Given the description of an element on the screen output the (x, y) to click on. 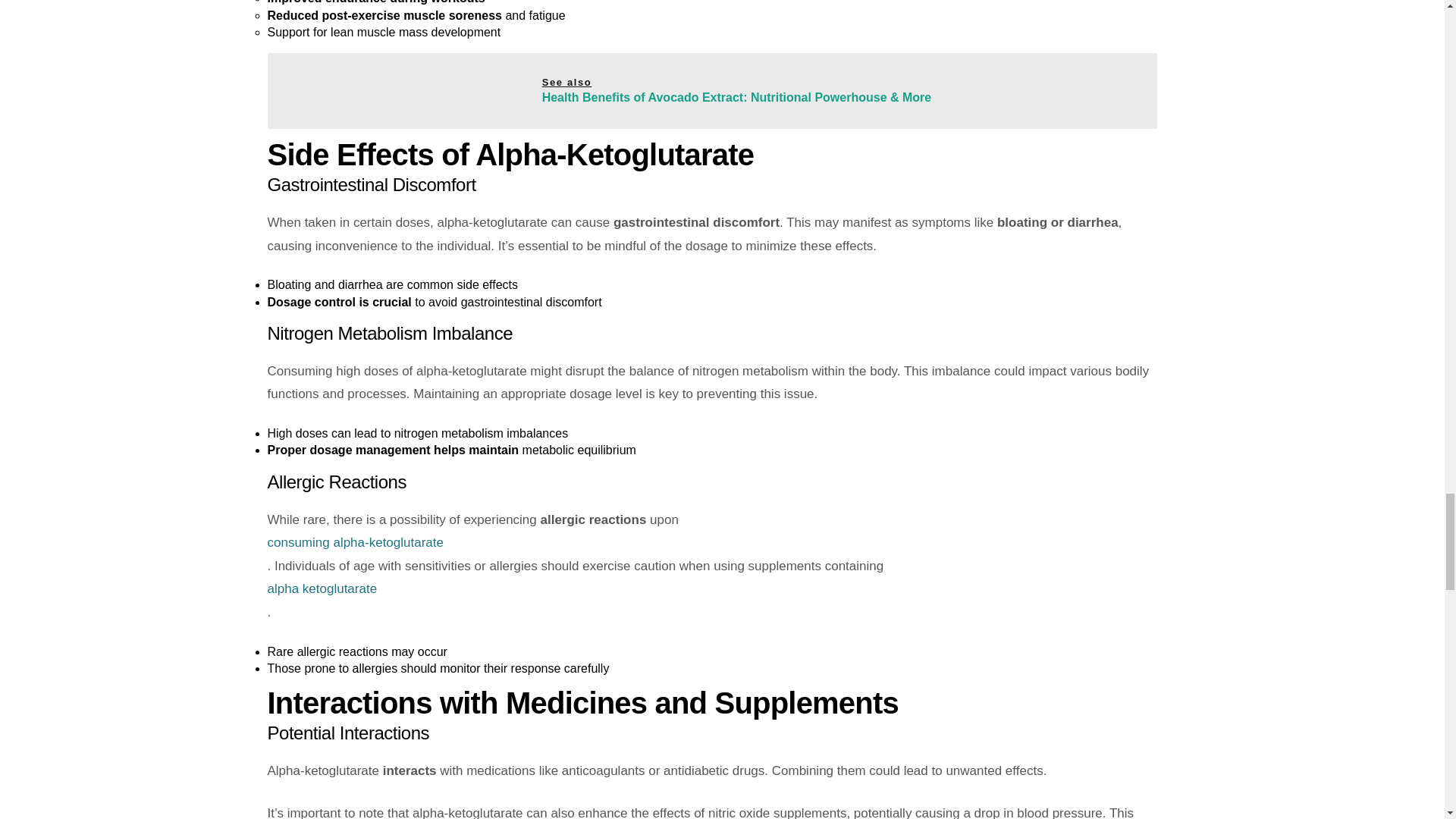
consuming alpha-ketoglutarate (711, 543)
alpha ketoglutarate (711, 589)
